Given the description of an element on the screen output the (x, y) to click on. 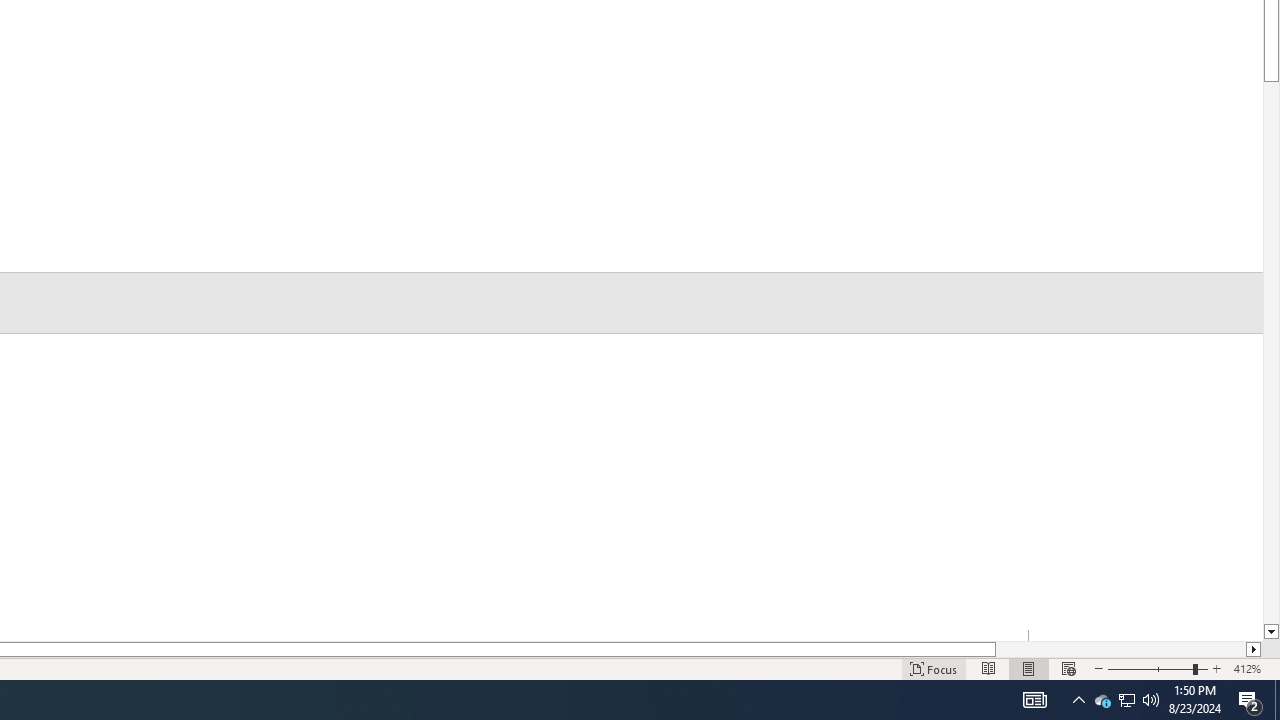
Line down (1271, 632)
Page right (1120, 649)
Column right (1254, 649)
Page down (1271, 353)
